Given the description of an element on the screen output the (x, y) to click on. 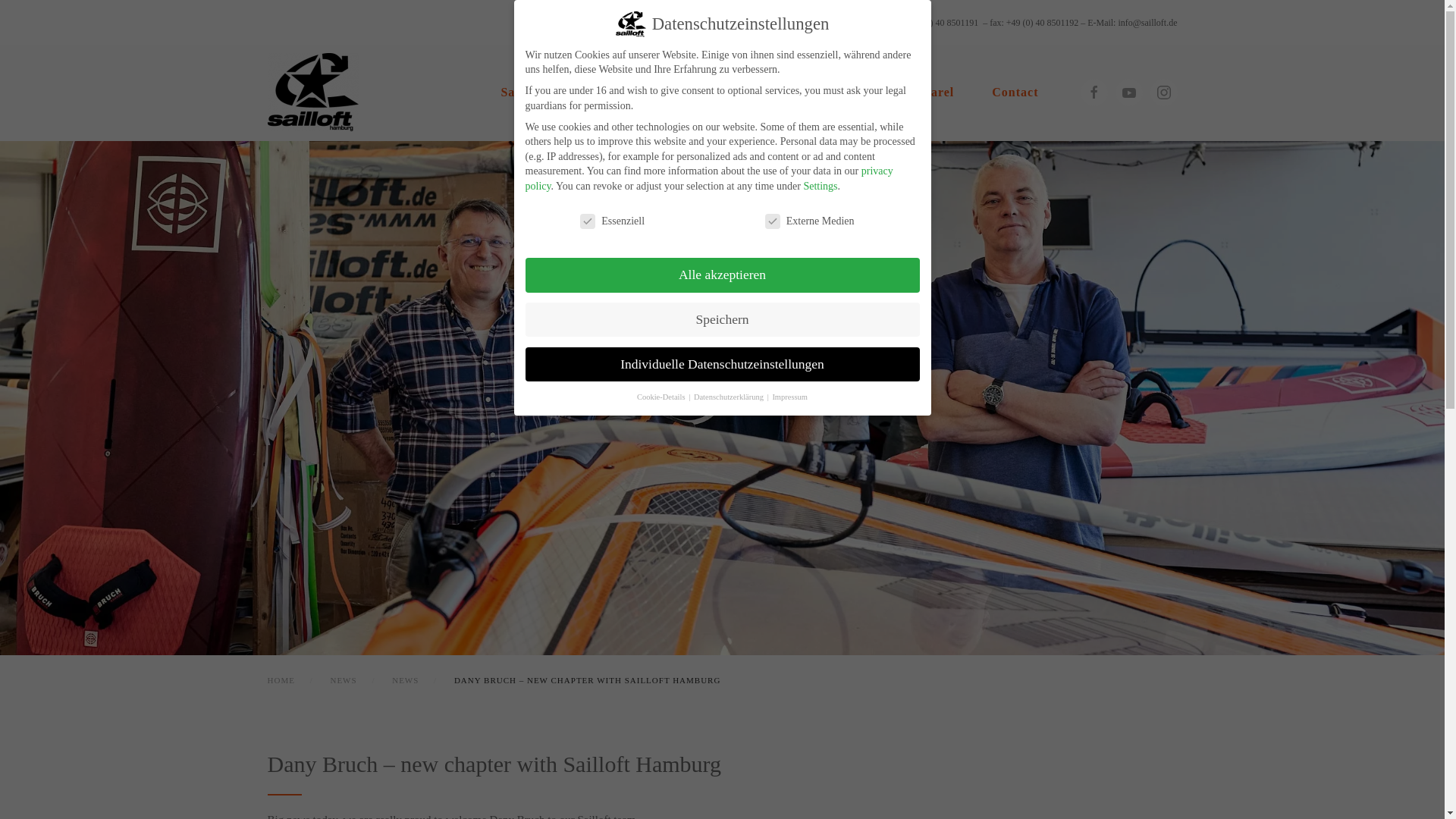
Sailloft (521, 92)
Windsurfing (618, 92)
Deutsch (825, 22)
